Given the description of an element on the screen output the (x, y) to click on. 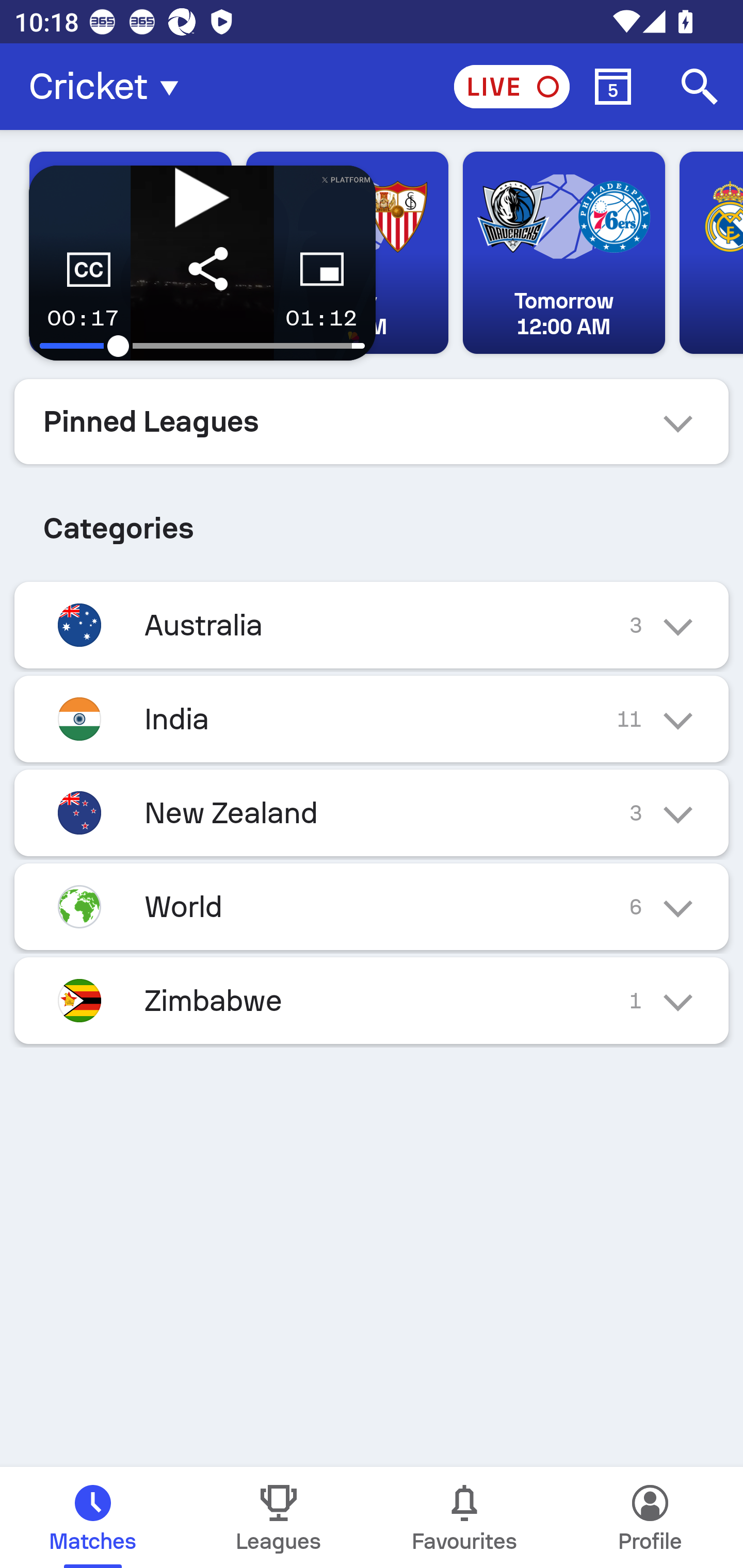
Cricket (109, 86)
Calendar (612, 86)
Search (699, 86)
Tomorrow
12:00 AM (563, 253)
Pinned Leagues (371, 421)
Categories (371, 520)
Australia 3 (371, 624)
India 11 (371, 718)
New Zealand 3 (371, 812)
World 6 (371, 906)
Zimbabwe 1 (371, 1001)
Leagues (278, 1517)
Favourites (464, 1517)
Profile (650, 1517)
